Given the description of an element on the screen output the (x, y) to click on. 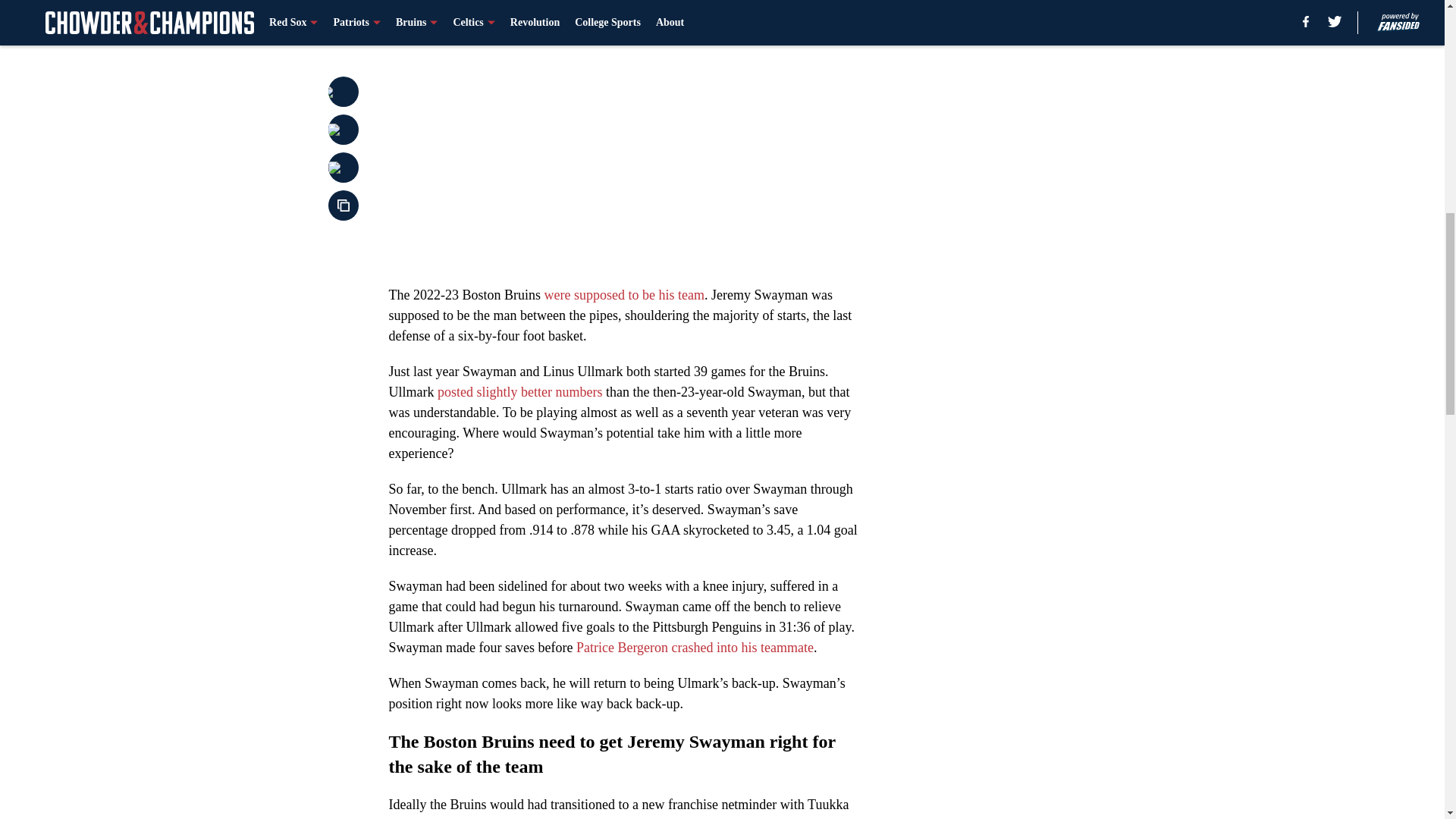
Patrice Bergeron crashed into his teammate (694, 647)
posted slightly better numbers (520, 391)
were supposed to be his team (624, 294)
